Given the description of an element on the screen output the (x, y) to click on. 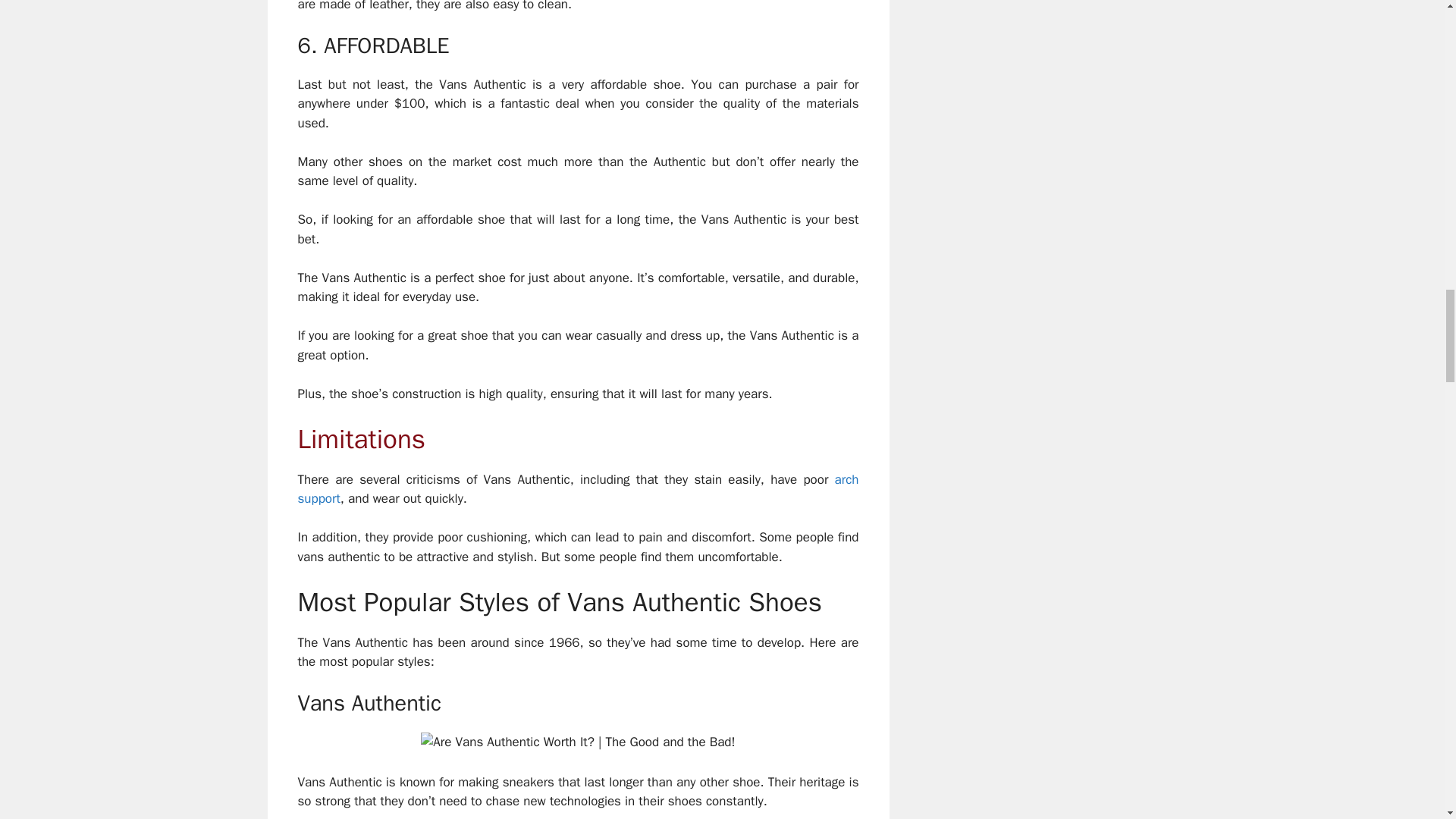
arch support (578, 488)
